Given the description of an element on the screen output the (x, y) to click on. 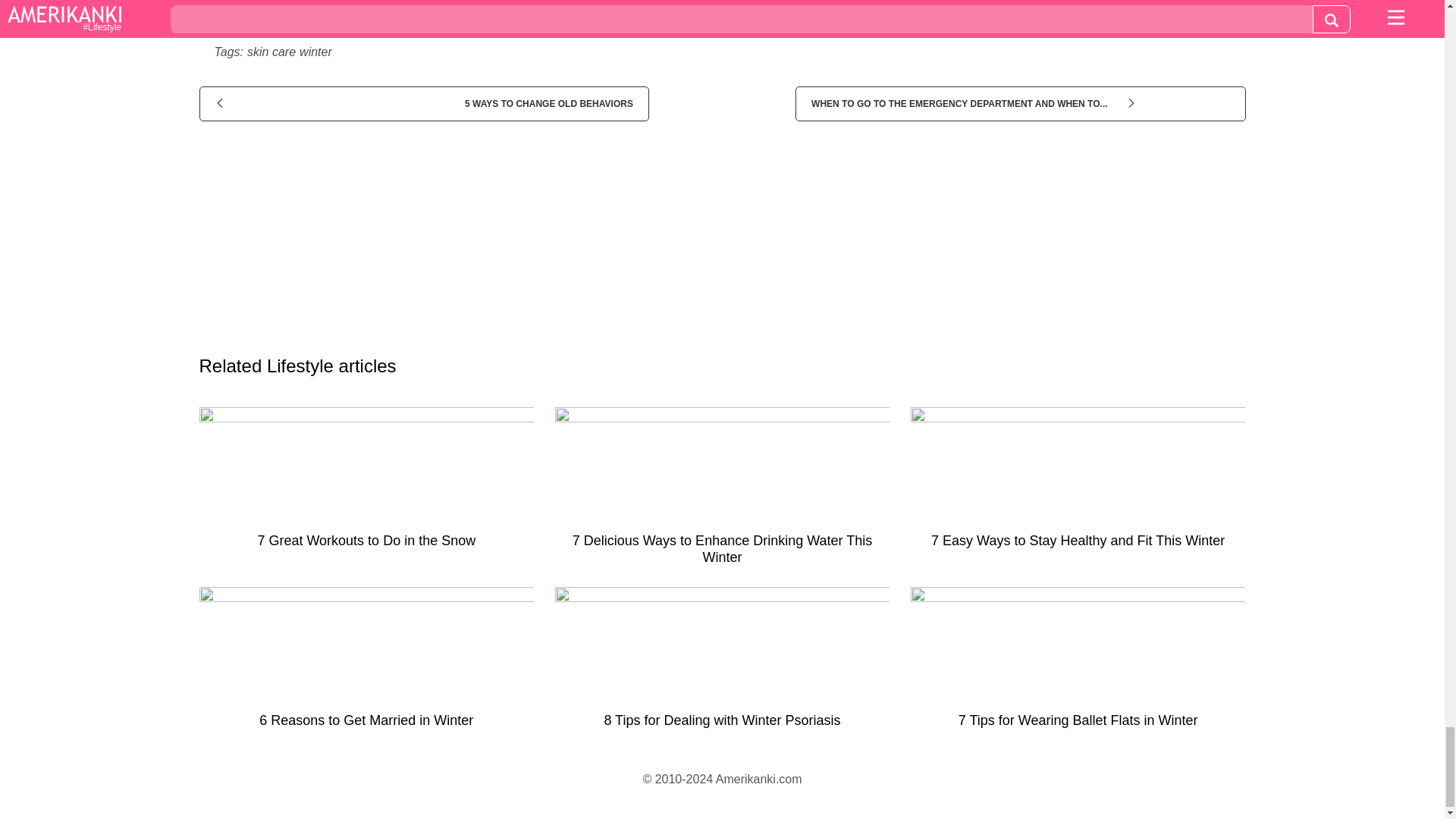
Share on Facebook (381, 13)
5 Ways to Change Old Behaviors (422, 103)
Share on Twitter (748, 13)
When to Go to the Emergency Department and When to Stay Home (1019, 103)
